Given the description of an element on the screen output the (x, y) to click on. 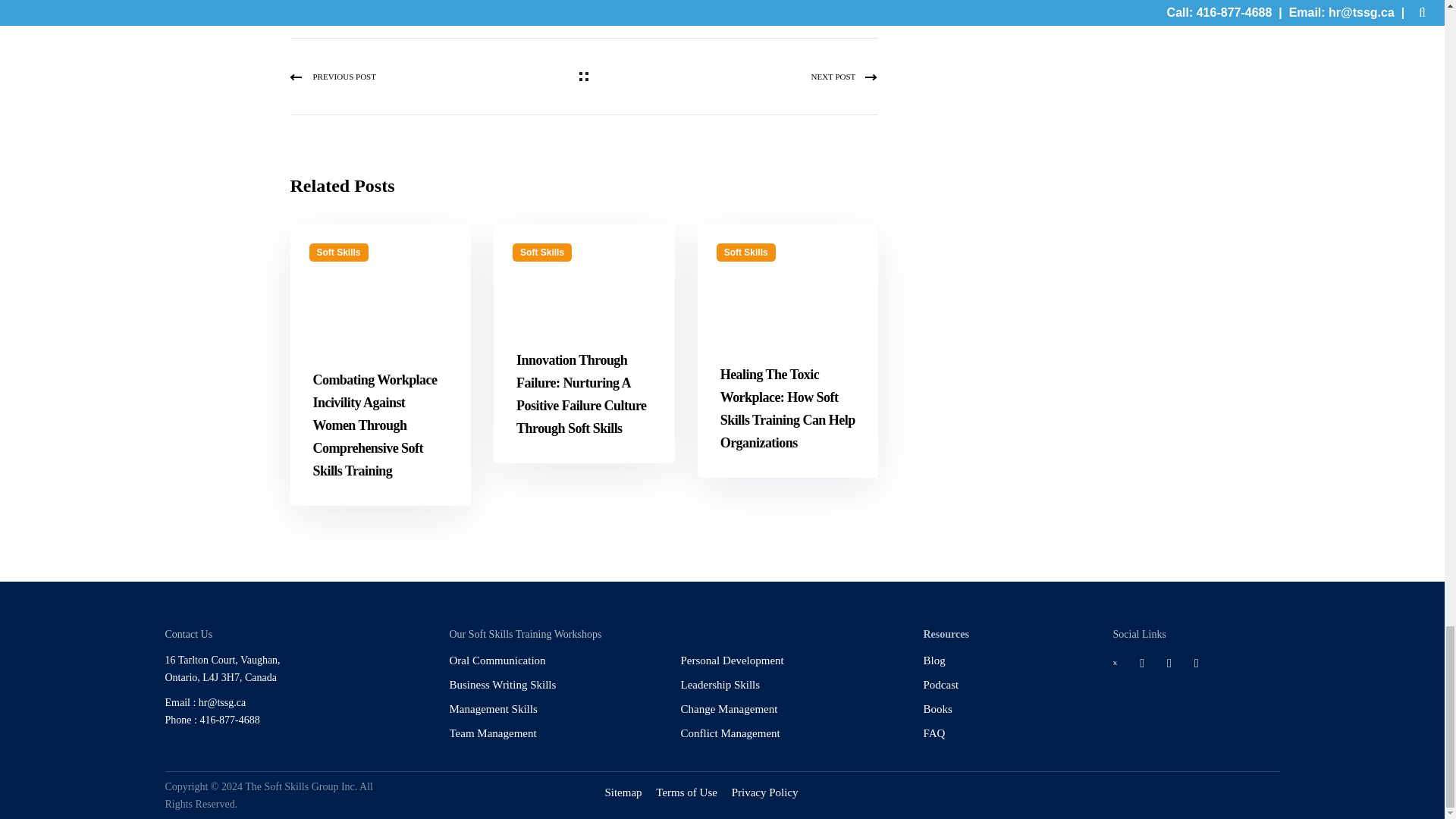
twitter (1125, 663)
YouTube (1205, 663)
instagram (1179, 663)
linkedin (1151, 663)
